Given the description of an element on the screen output the (x, y) to click on. 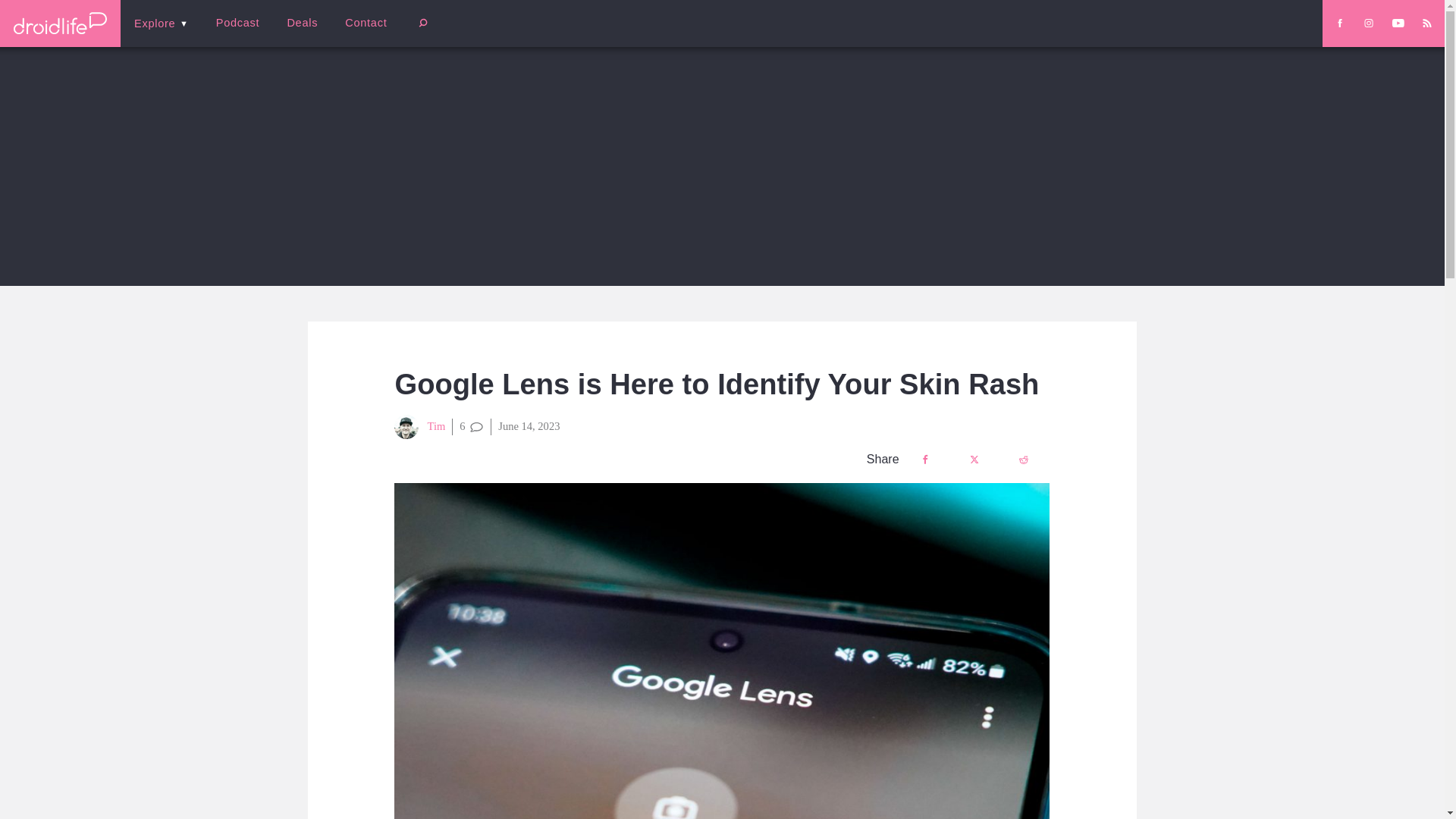
Droid Life on YouTube (1398, 23)
Podcast (237, 23)
Droid Life RSS (1426, 23)
Explore (161, 23)
Contact (365, 23)
Droid Life on Facebook (1339, 23)
Droid Life on Instagram (1368, 23)
Deals (302, 23)
Beginners' Guide (360, 33)
Tim (419, 426)
